Given the description of an element on the screen output the (x, y) to click on. 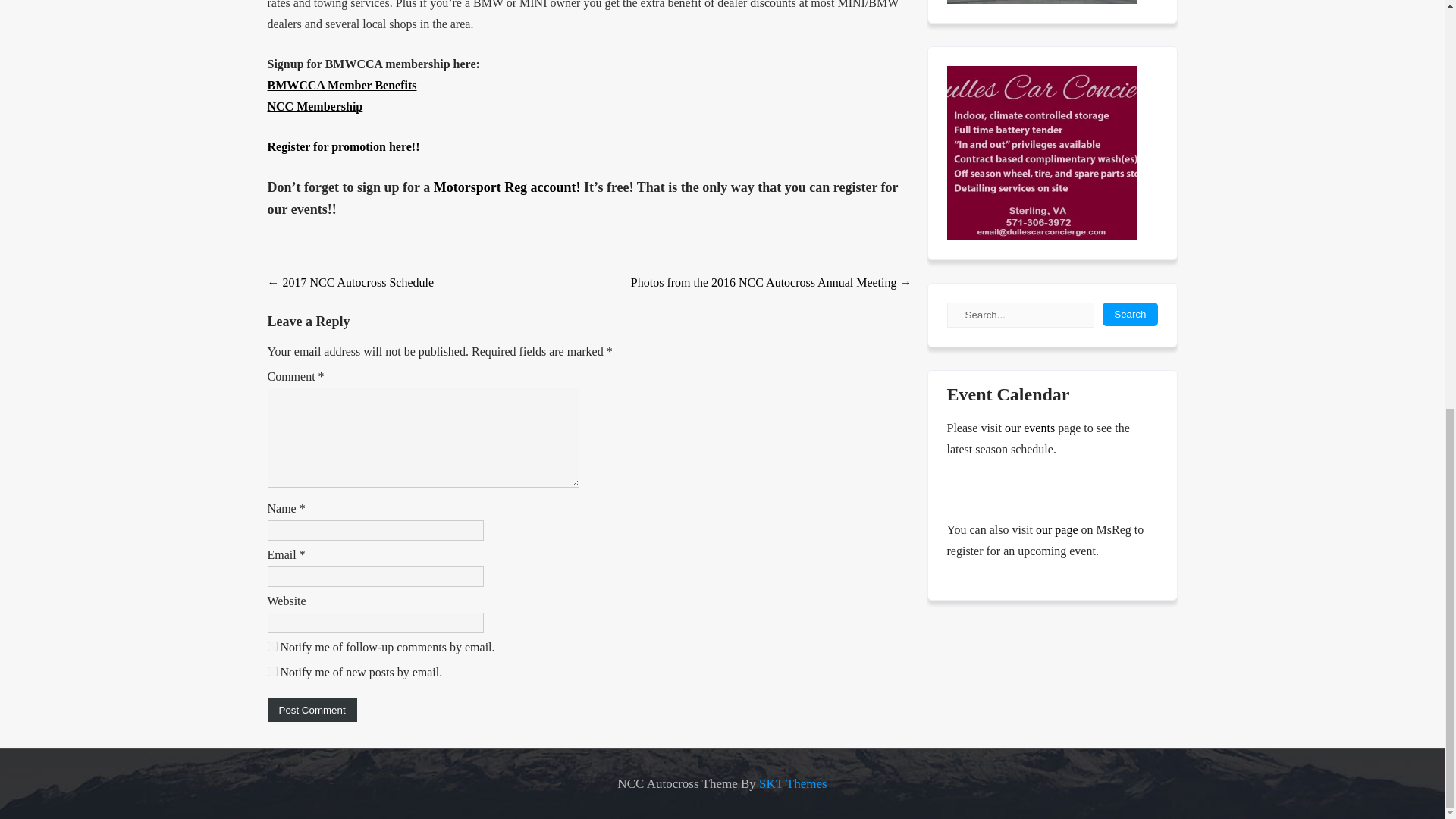
BMWCCA Member Benefits (341, 84)
NCC Membership (314, 106)
Post Comment (311, 709)
Post Comment (311, 709)
Dulles Car Concierge (1040, 153)
Search (1129, 313)
Search (1129, 313)
subscribe (271, 671)
subscribe (271, 646)
RRT (1040, 2)
Register for promotion here!! (342, 146)
Motorsport Reg account! (506, 186)
